Given the description of an element on the screen output the (x, y) to click on. 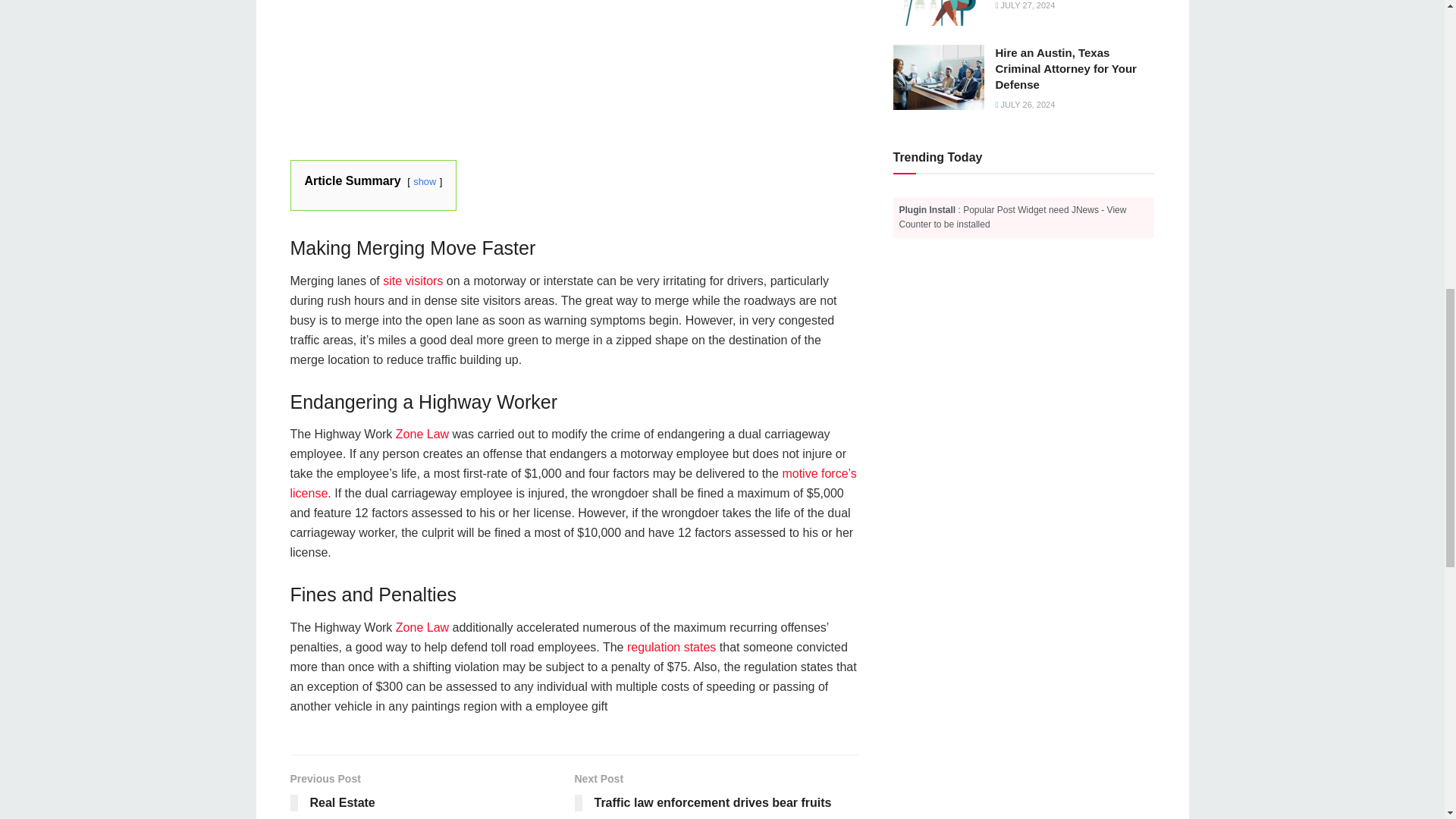
Hire an Austin, Texas Criminal Attorney for Your Defense 8 (938, 77)
How to Use the Law of Breaks at Work for Creativity 7 (938, 13)
